Given the description of an element on the screen output the (x, y) to click on. 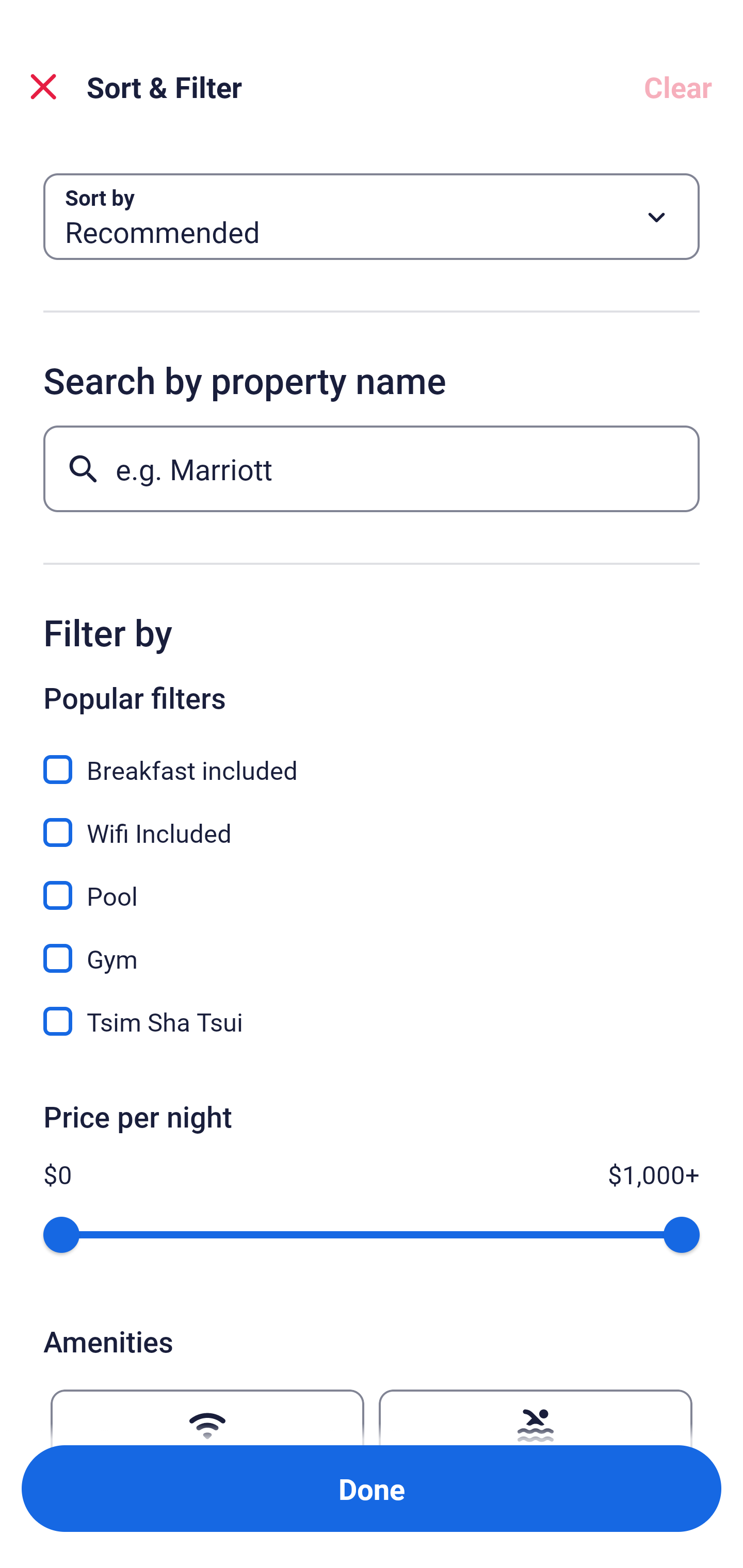
Close Sort and Filter (43, 86)
Clear (677, 86)
Sort by Button Recommended (371, 217)
e.g. Marriott Button (371, 468)
Breakfast included, Breakfast included (371, 757)
Wifi Included, Wifi Included (371, 821)
Pool, Pool (371, 883)
Gym, Gym (371, 946)
Tsim Sha Tsui, Tsim Sha Tsui (371, 1021)
Apply and close Sort and Filter Done (371, 1488)
